Given the description of an element on the screen output the (x, y) to click on. 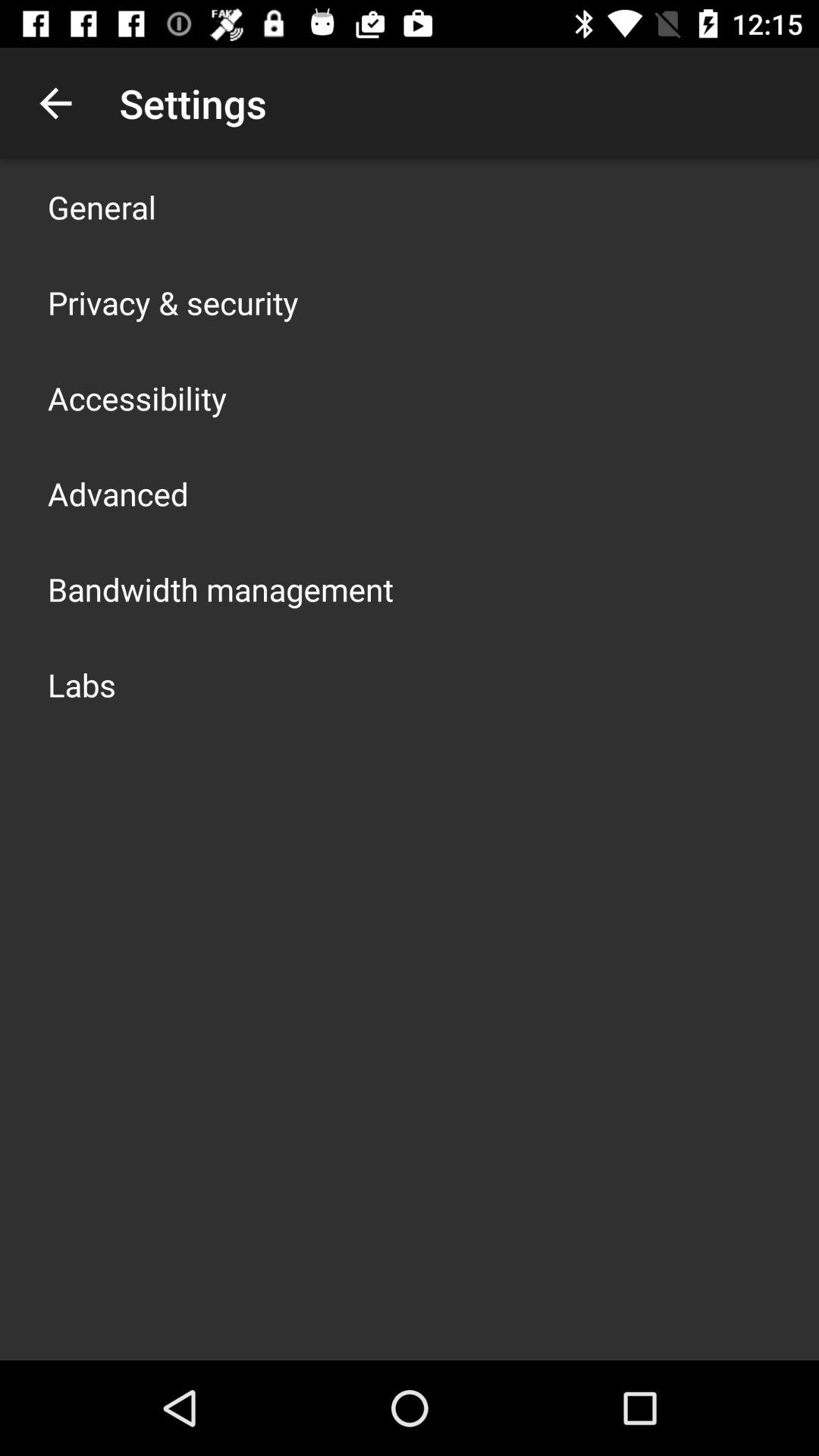
turn off advanced app (117, 493)
